Given the description of an element on the screen output the (x, y) to click on. 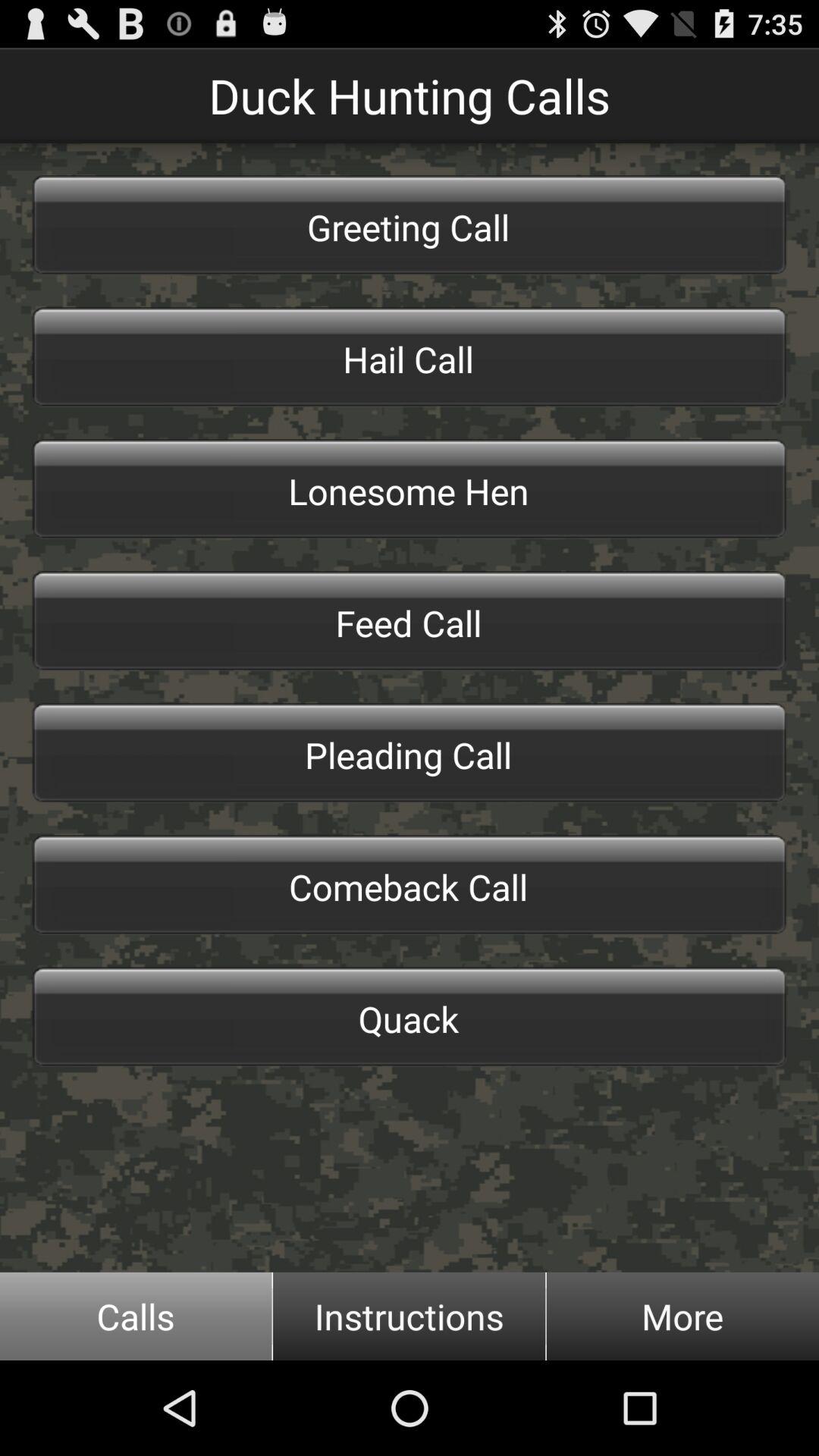
turn off the icon below the greeting call icon (409, 357)
